Given the description of an element on the screen output the (x, y) to click on. 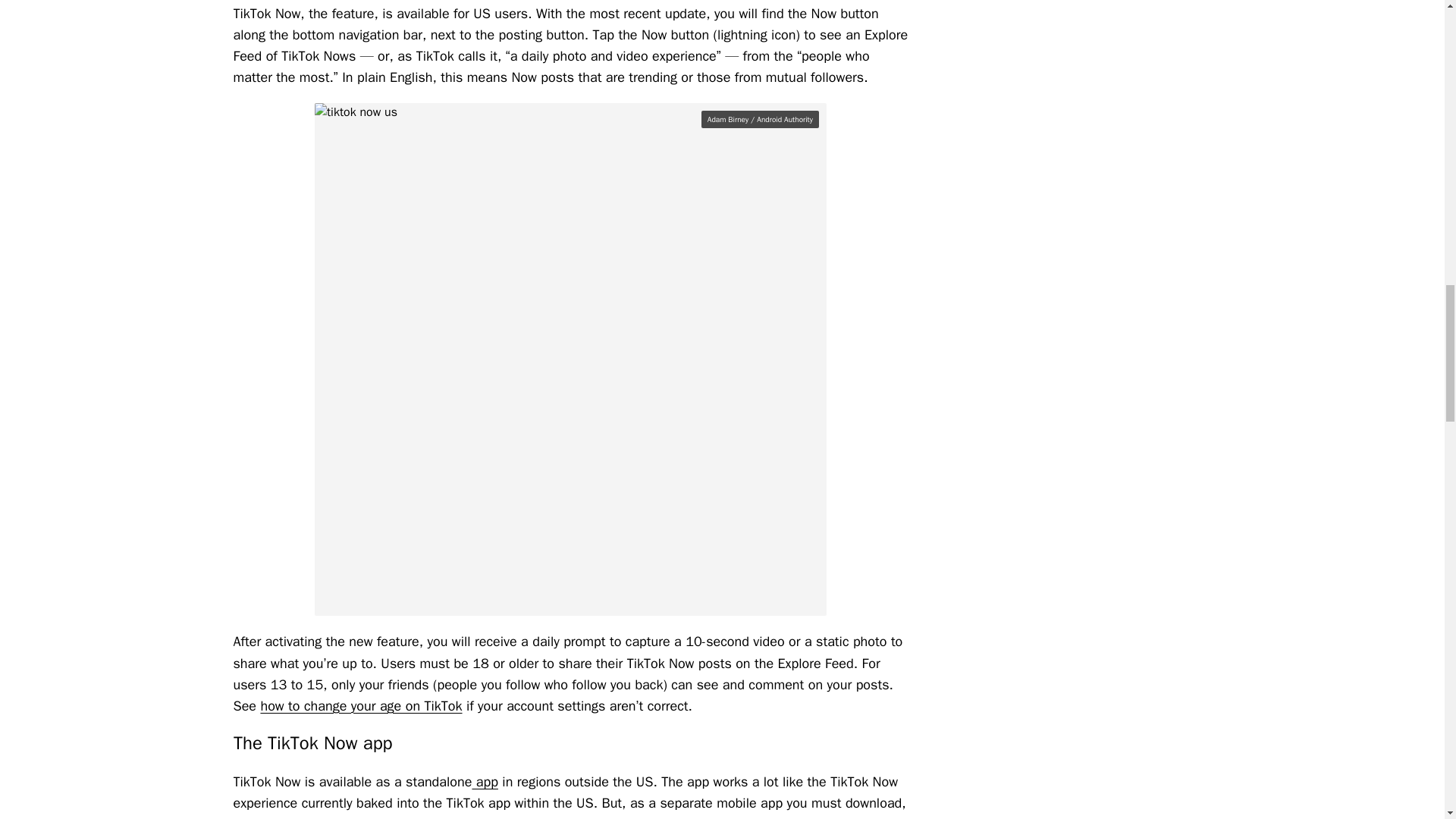
 app (484, 781)
how to change your age on TikTok (360, 705)
